Given the description of an element on the screen output the (x, y) to click on. 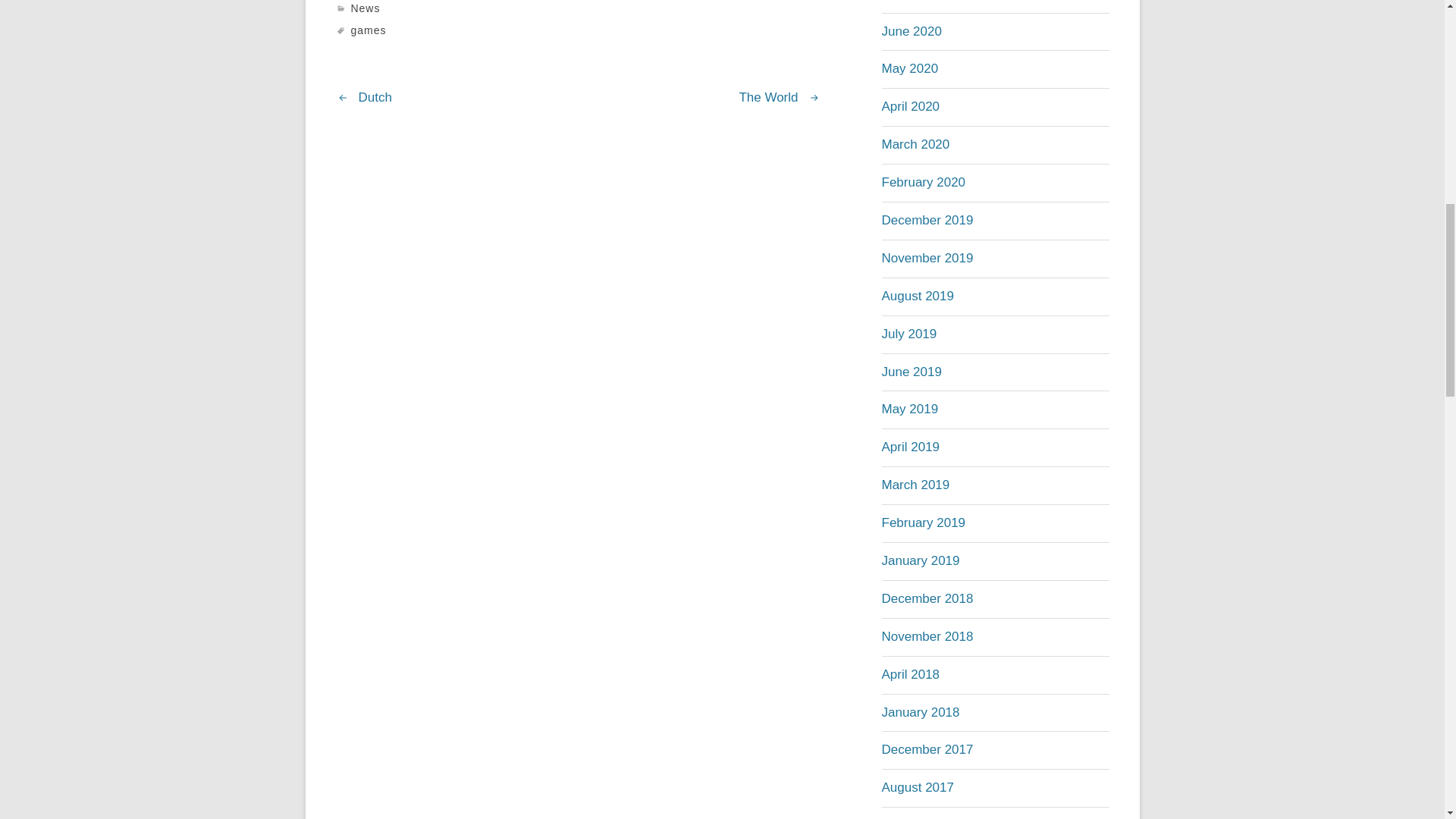
May 2019 (908, 409)
February 2020 (922, 182)
May 2020 (908, 68)
April 2020 (909, 106)
November 2019 (926, 257)
Dutch (374, 97)
June 2019 (910, 371)
June 2020 (910, 31)
August 2019 (916, 296)
The World (767, 97)
News (365, 8)
March 2019 (914, 484)
December 2019 (926, 219)
July 2020 (908, 0)
March 2020 (914, 144)
